Given the description of an element on the screen output the (x, y) to click on. 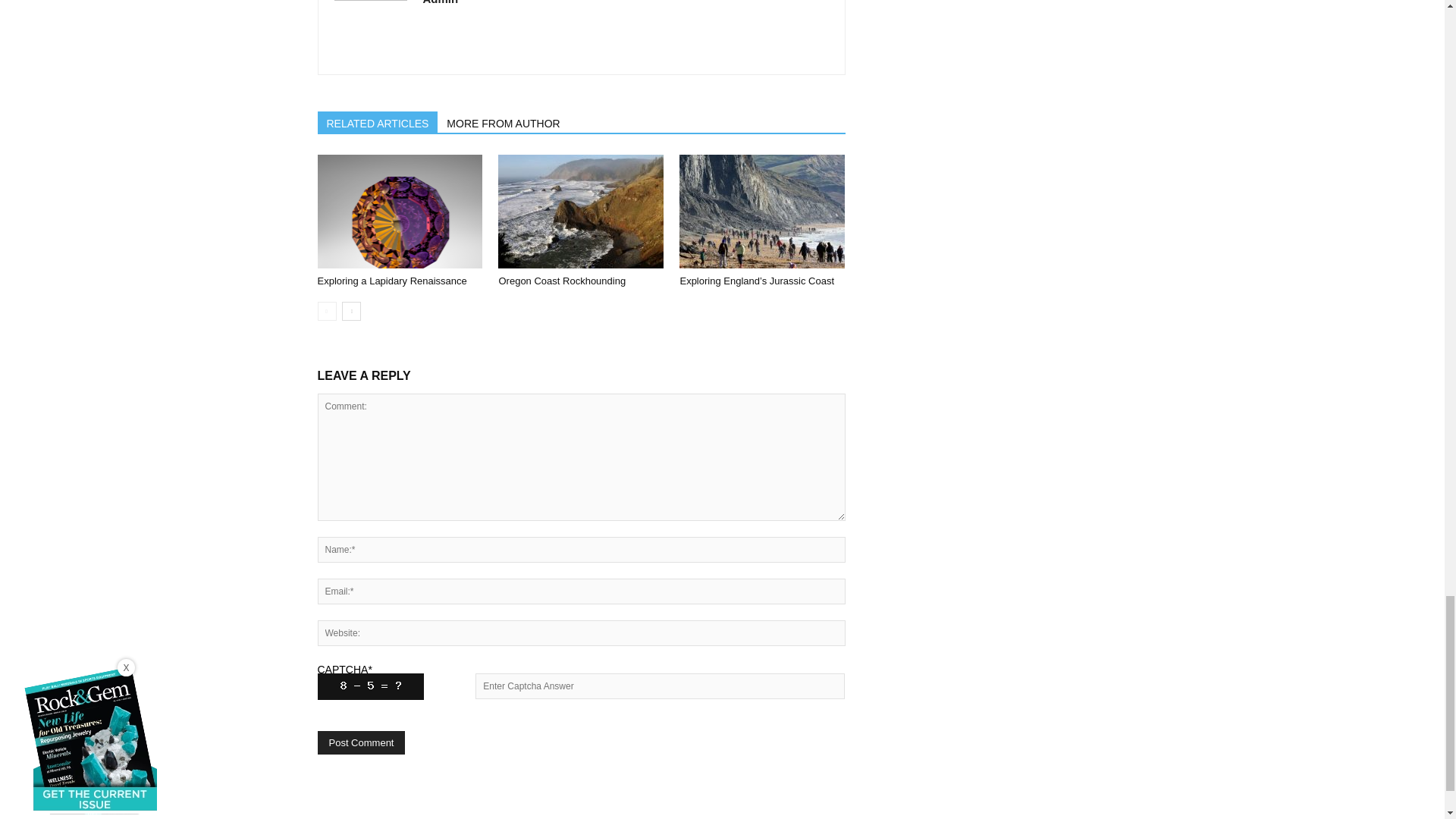
Post Comment (360, 742)
